Given the description of an element on the screen output the (x, y) to click on. 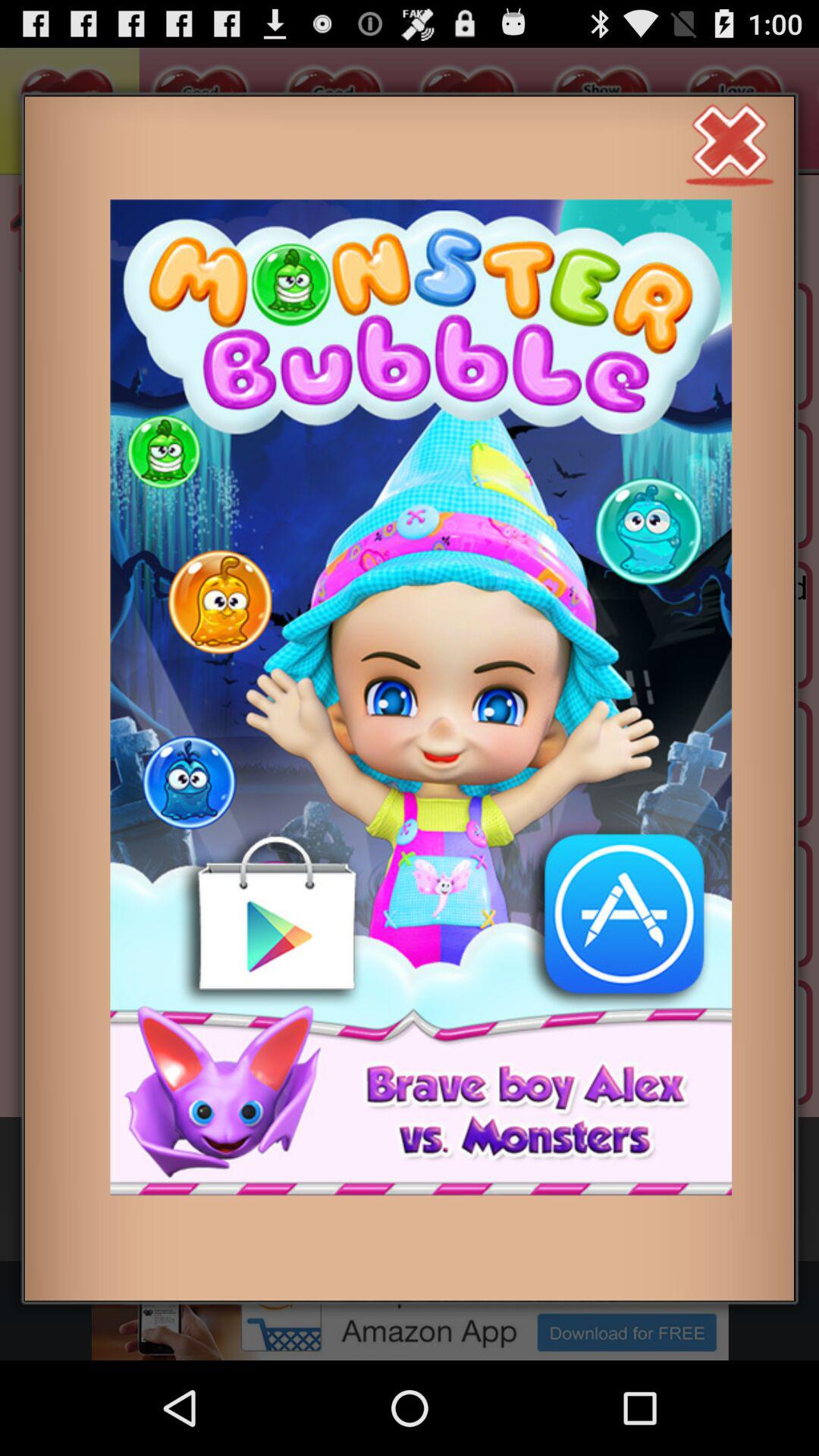
close (730, 142)
